Given the description of an element on the screen output the (x, y) to click on. 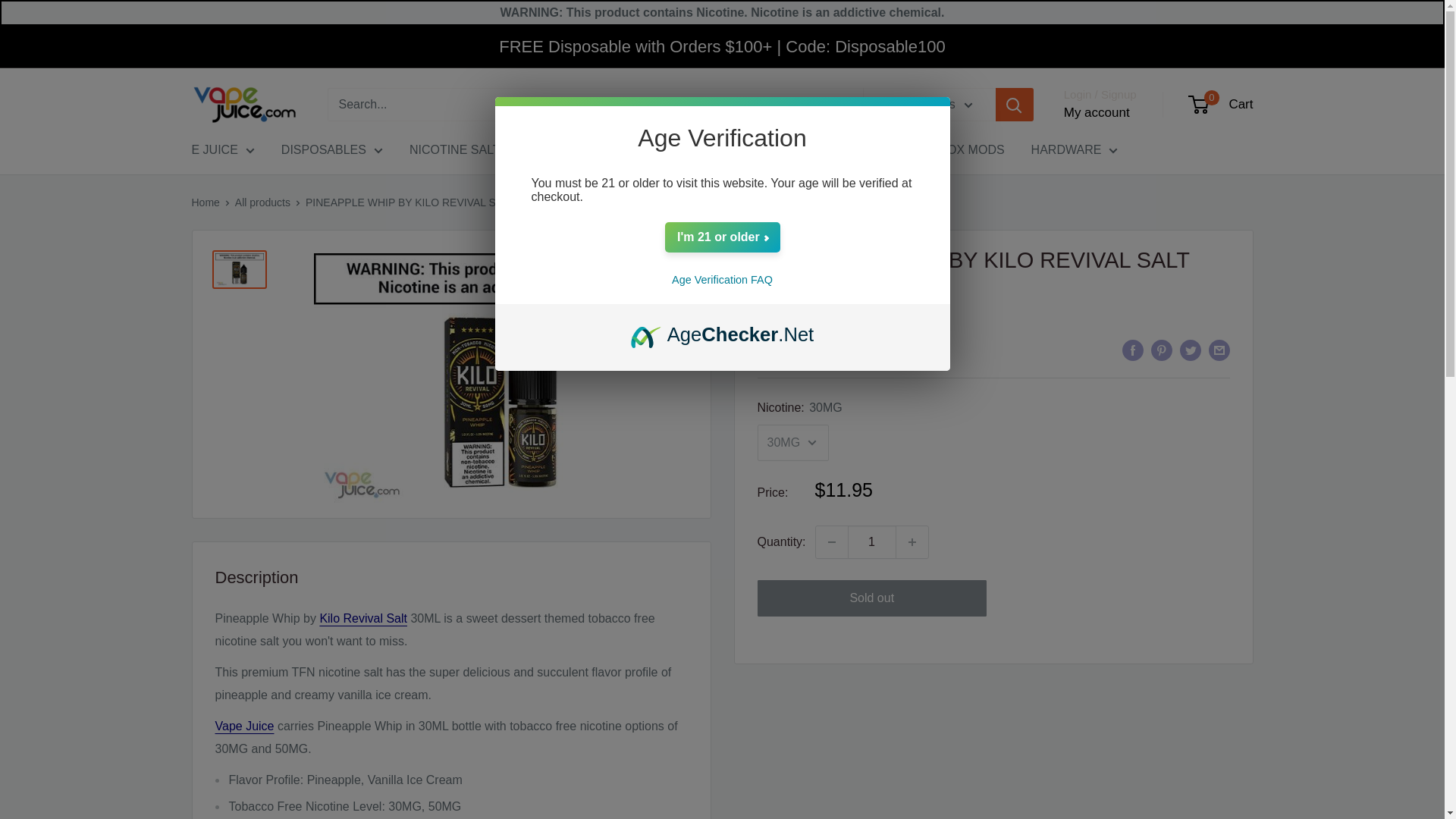
Increase quantity by 1 (912, 541)
Decrease quantity by 1 (831, 541)
KILO SALT (362, 617)
1 (871, 541)
